Given the description of an element on the screen output the (x, y) to click on. 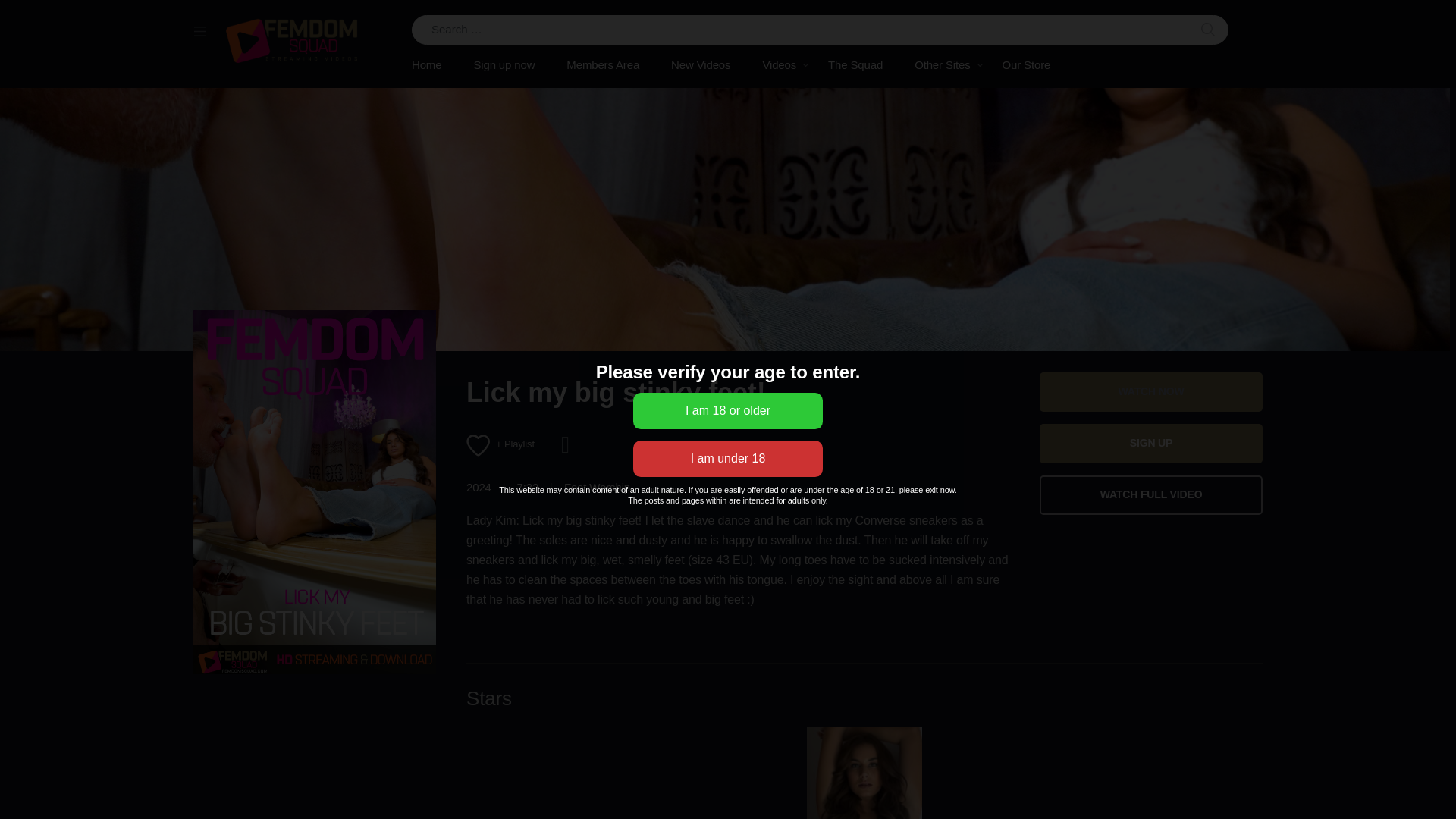
Sign up now (503, 65)
Videos (778, 65)
Home (434, 65)
I am 18 or older (727, 411)
SEARCH (1208, 29)
I am under 18 (727, 458)
Members Area (602, 65)
Other Sites (941, 65)
New Videos (700, 65)
The Squad (855, 65)
